Given the description of an element on the screen output the (x, y) to click on. 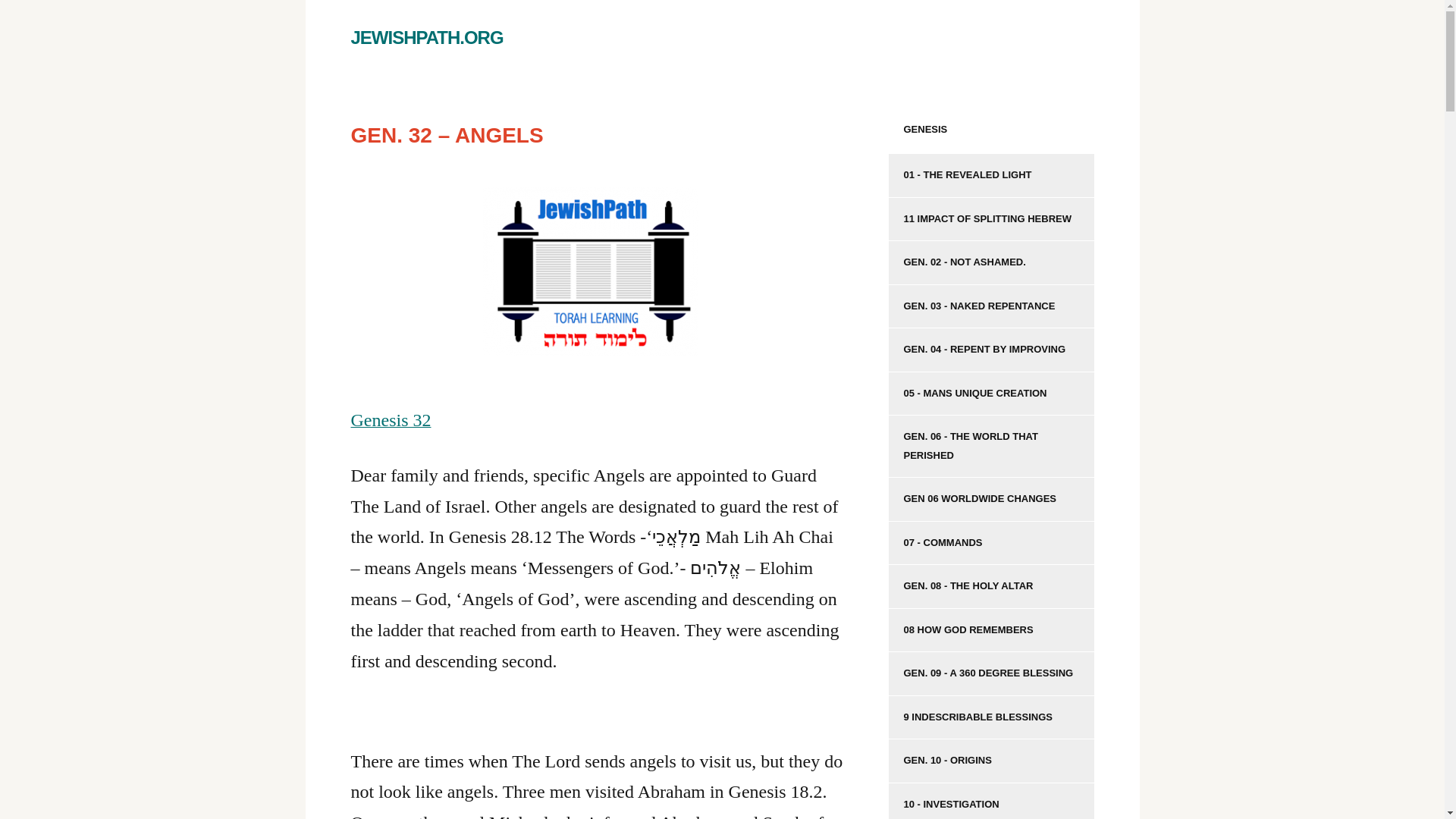
9 INDESCRIBABLE BLESSINGS (991, 718)
11 IMPACT OF SPLITTING HEBREW (991, 219)
GEN. 09 - A 360 DEGREE BLESSING (991, 673)
GEN. 10 - ORIGINS (991, 760)
Genesis 32 (390, 421)
GEN 06 WORLDWIDE CHANGES (991, 499)
GENESIS (991, 129)
08 HOW GOD REMEMBERS (991, 630)
07 - COMMANDS (991, 543)
GEN. 08 - THE HOLY ALTAR (991, 587)
